Given the description of an element on the screen output the (x, y) to click on. 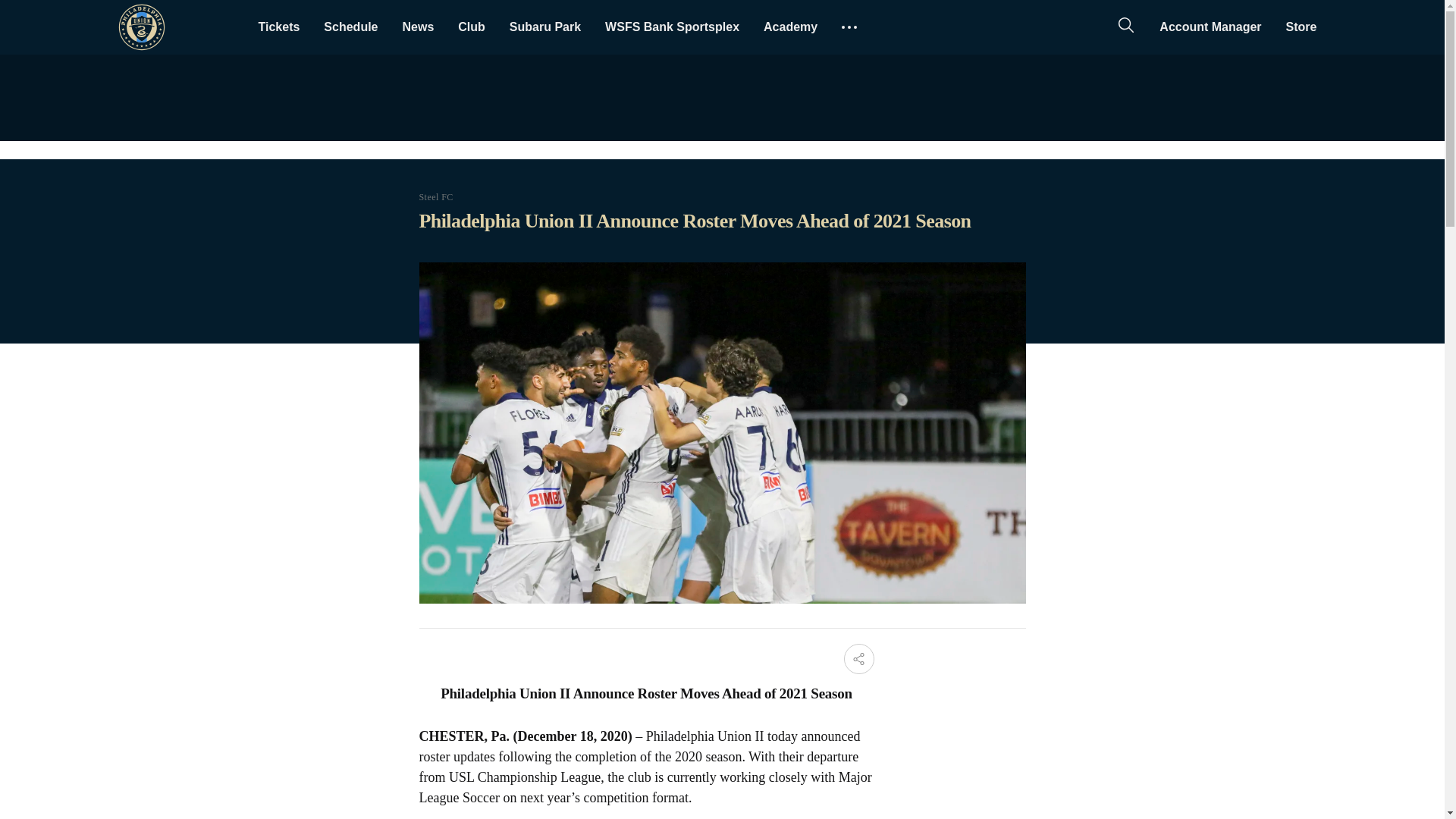
Tickets (278, 26)
Academy (790, 26)
Store (1301, 26)
Club (471, 26)
Schedule (350, 26)
WSFS Bank Sportsplex (671, 26)
Subaru Park (544, 26)
News (417, 26)
Philadelphia Union (141, 27)
Account Manager (1209, 26)
